Given the description of an element on the screen output the (x, y) to click on. 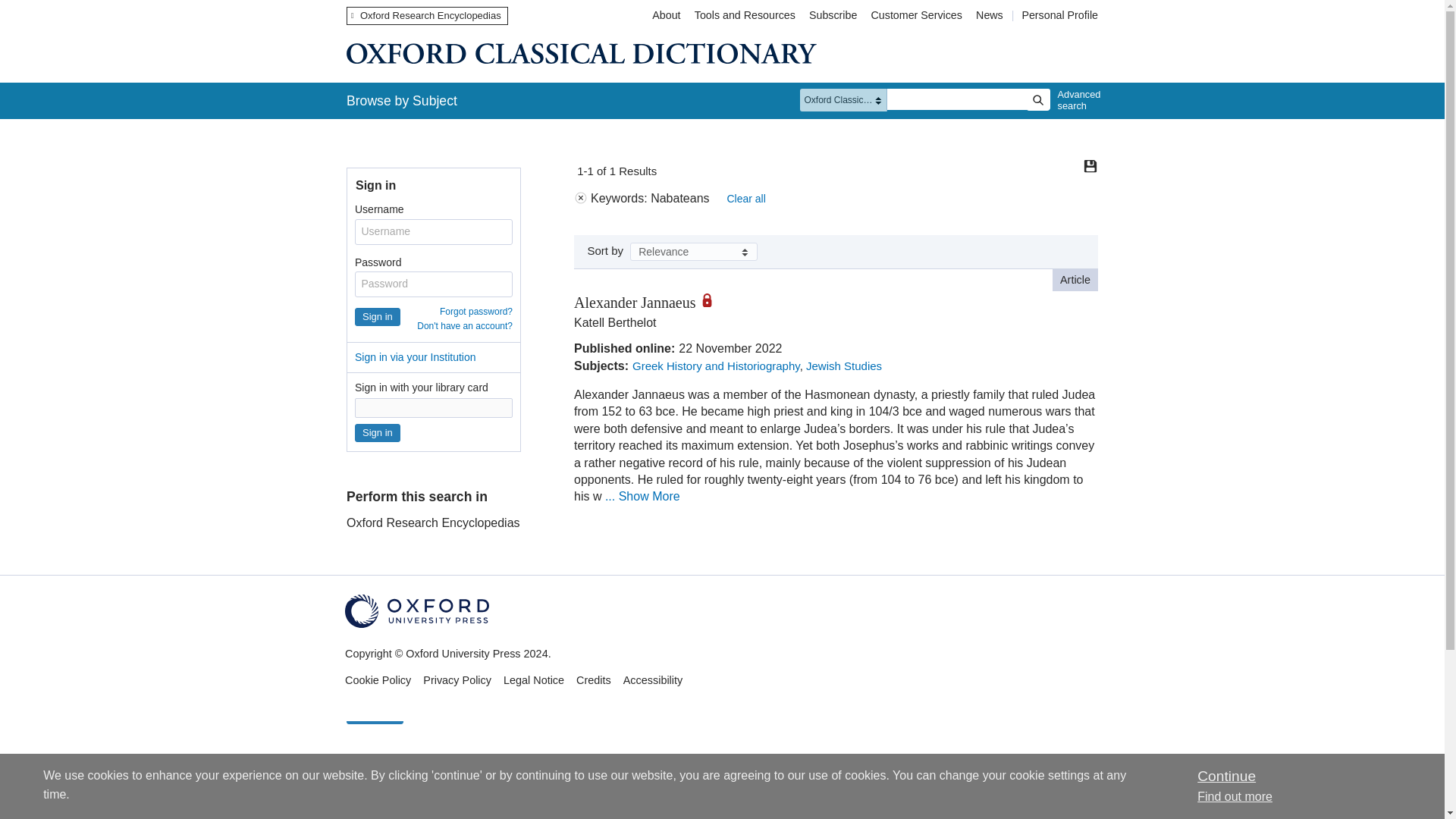
Continue (1225, 775)
Advanced search (1075, 100)
Oxford Research Encyclopedias (427, 15)
 Update (374, 713)
Browse by Subject (401, 100)
Nabateans (433, 685)
Search (1037, 99)
restricted access (711, 300)
News (991, 15)
Oxford Classical Dictionary (581, 53)
